Given the description of an element on the screen output the (x, y) to click on. 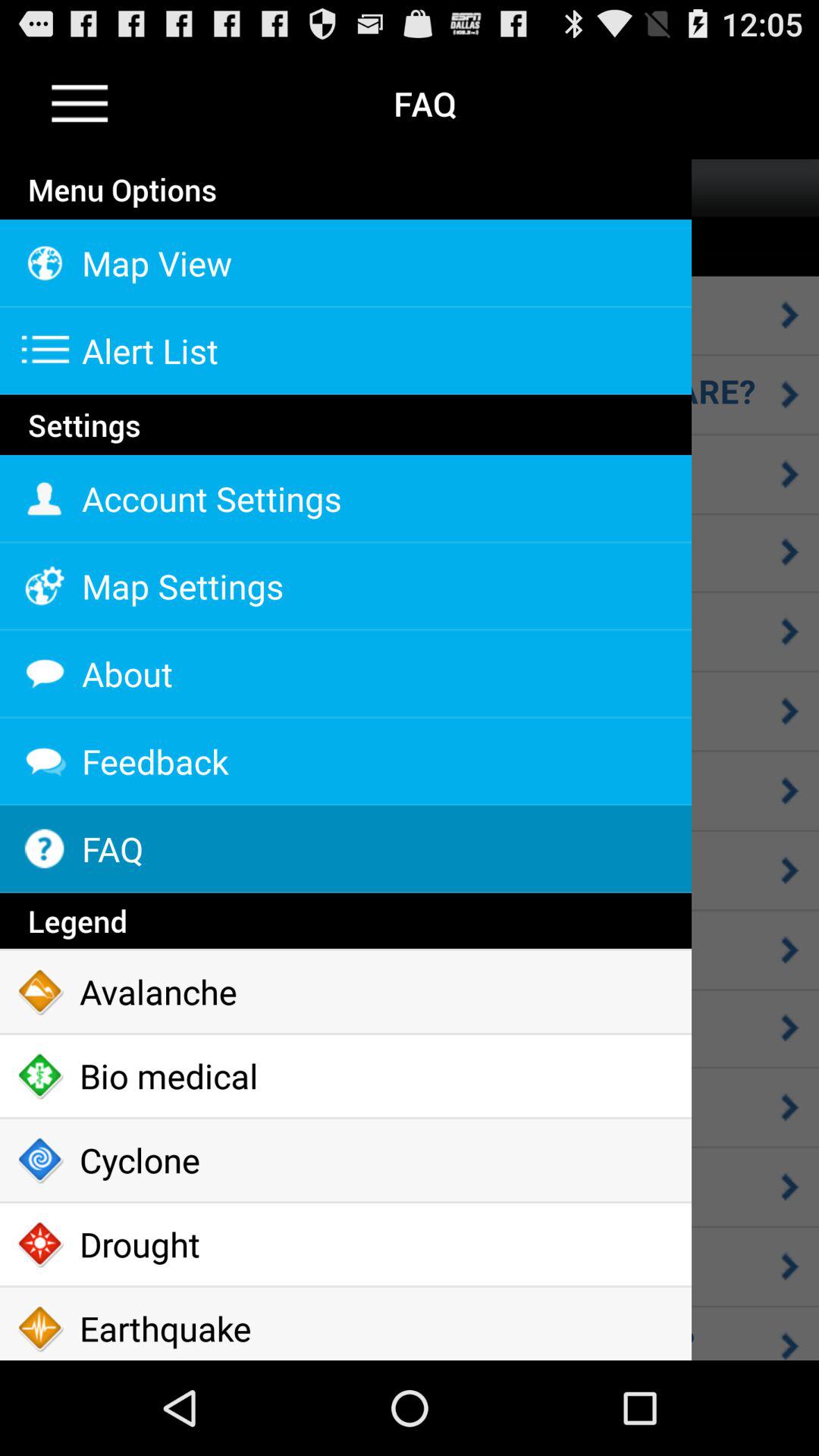
launch the button above map view (345, 218)
